Given the description of an element on the screen output the (x, y) to click on. 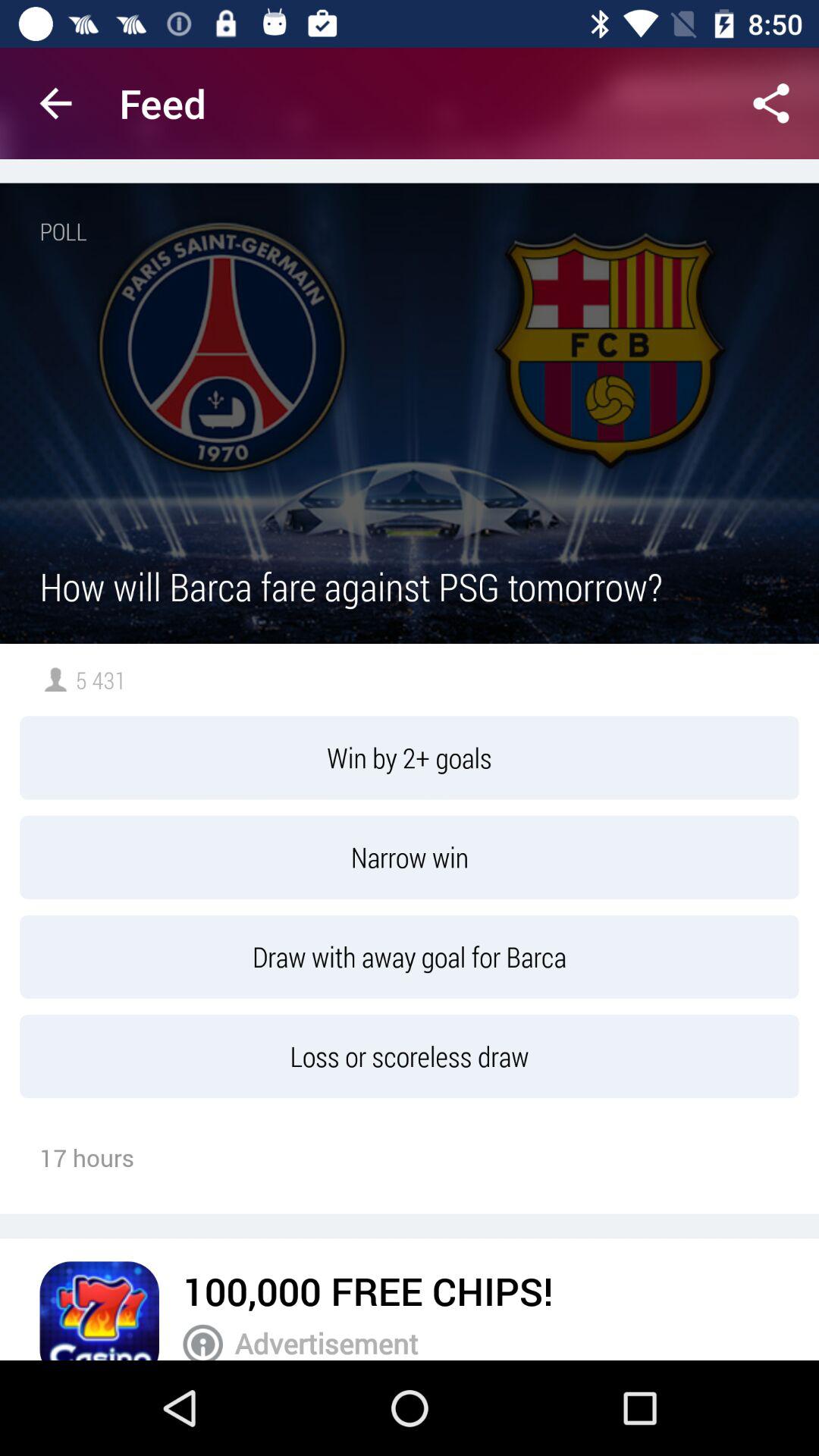
this is an advertisement click on it for more information (202, 1342)
